Given the description of an element on the screen output the (x, y) to click on. 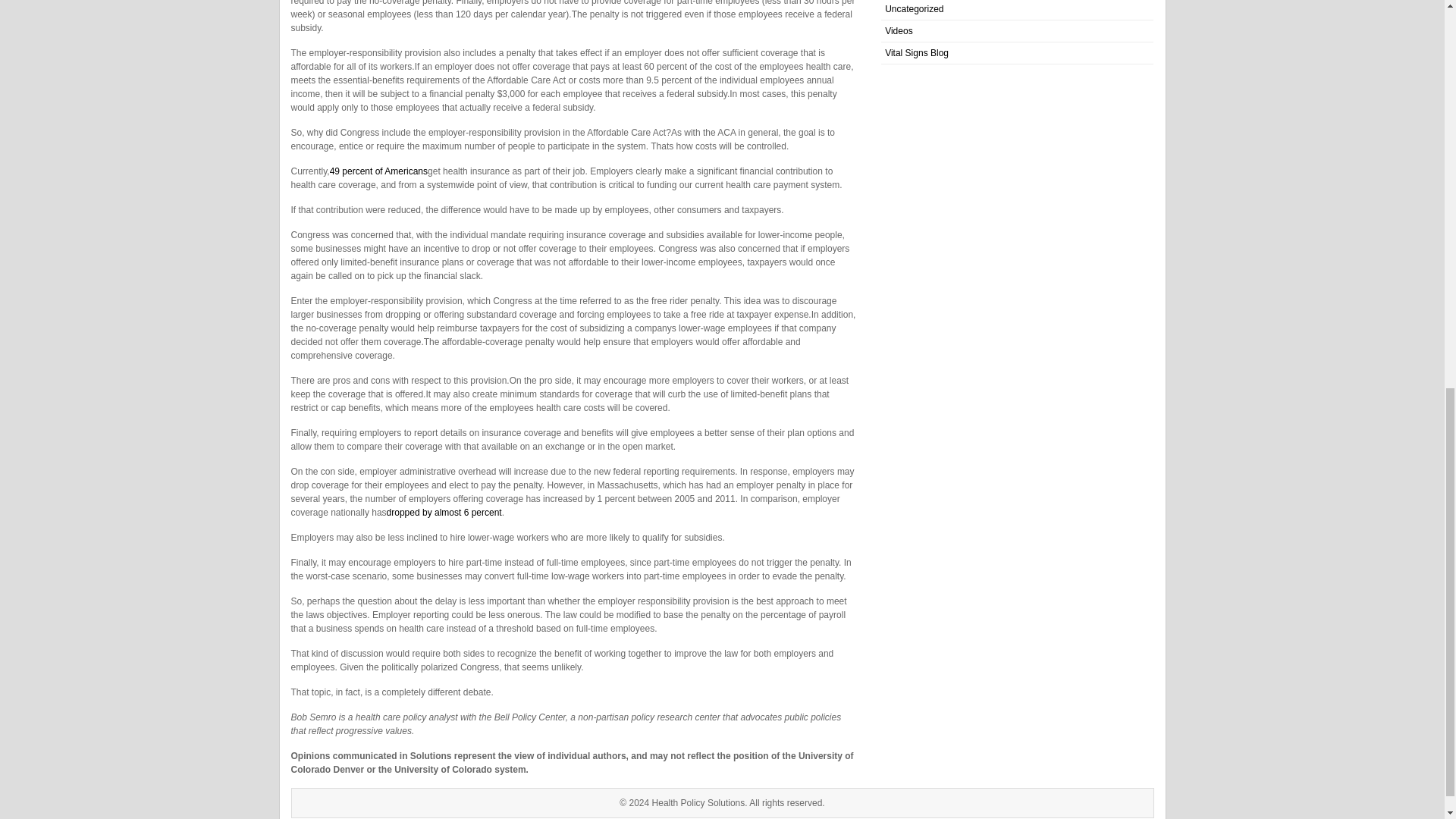
49 percent of Americans (379, 171)
Vital Signs Blog (917, 52)
Uncategorized (914, 9)
Videos (898, 30)
dropped by almost 6 percent (444, 511)
